Given the description of an element on the screen output the (x, y) to click on. 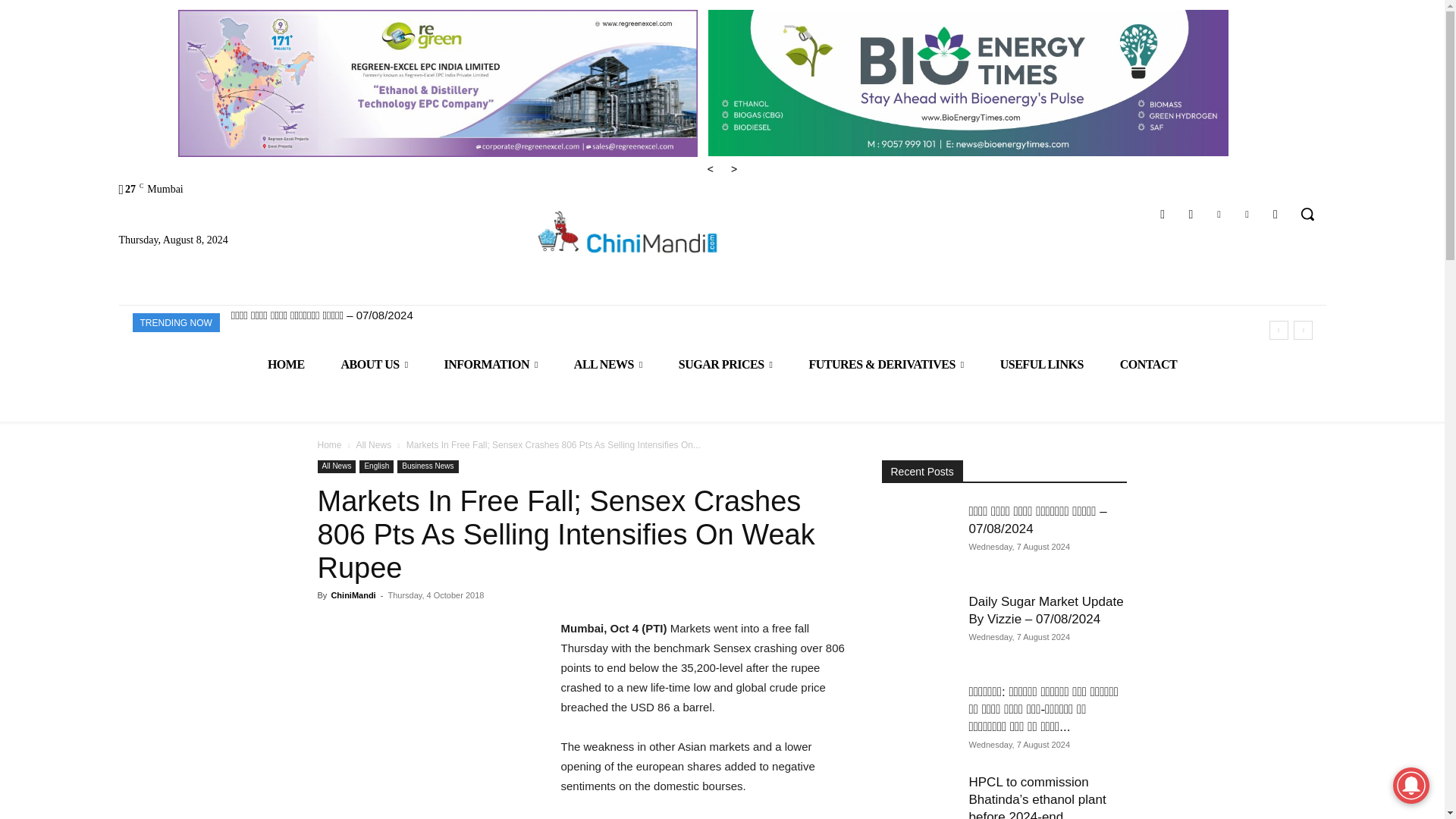
Linkedin (1218, 213)
Youtube (1275, 213)
Twitter (1246, 213)
Facebook (1163, 213)
Instagram (1190, 213)
